Given the description of an element on the screen output the (x, y) to click on. 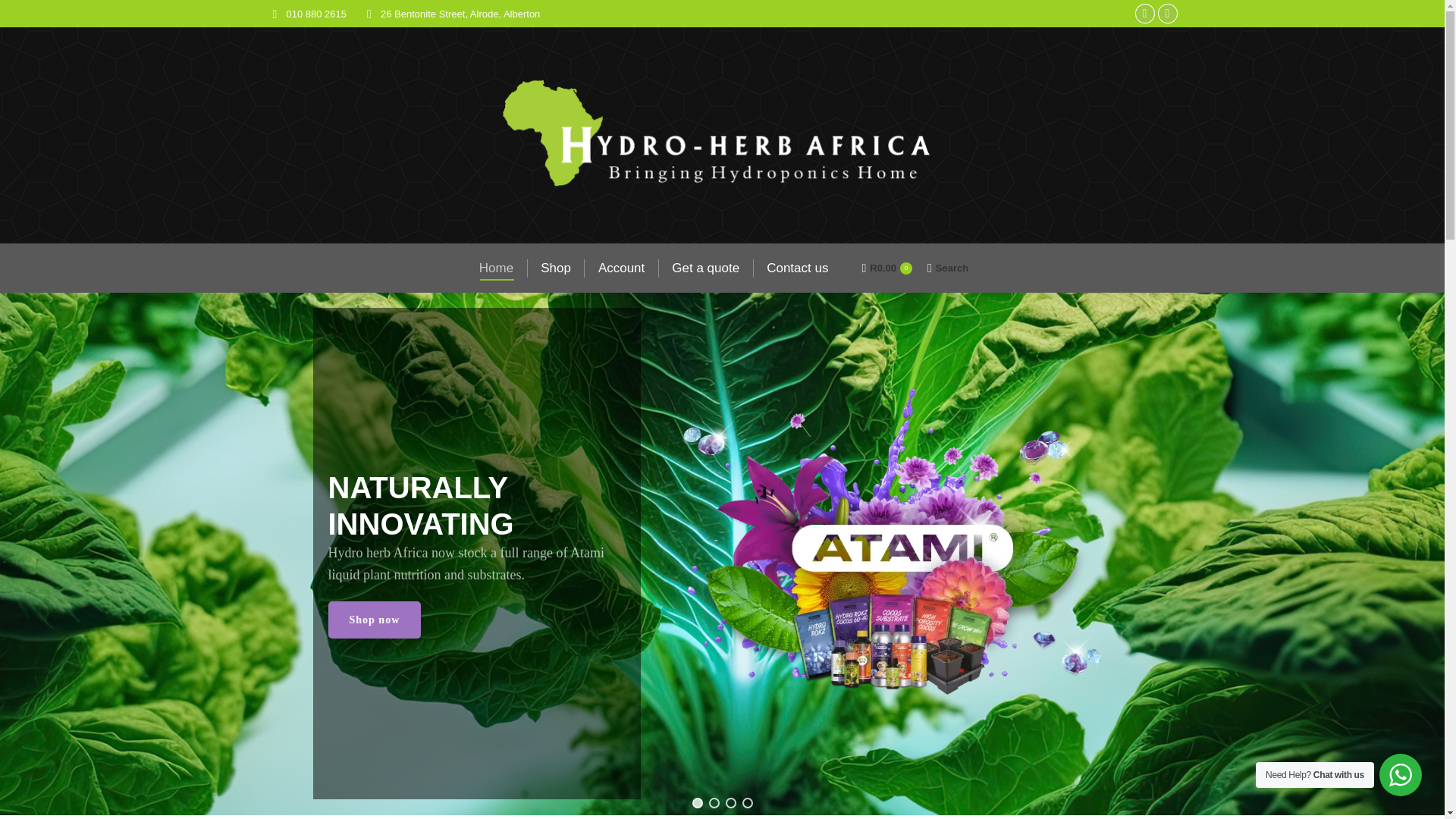
Facebook page opens in new window (1144, 13)
Account (621, 268)
home (496, 268)
Home (496, 268)
Shop (555, 268)
Mail page opens in new window (1166, 13)
Search (947, 267)
Go! (24, 16)
Contact us (886, 267)
Get a quote (796, 268)
